Given the description of an element on the screen output the (x, y) to click on. 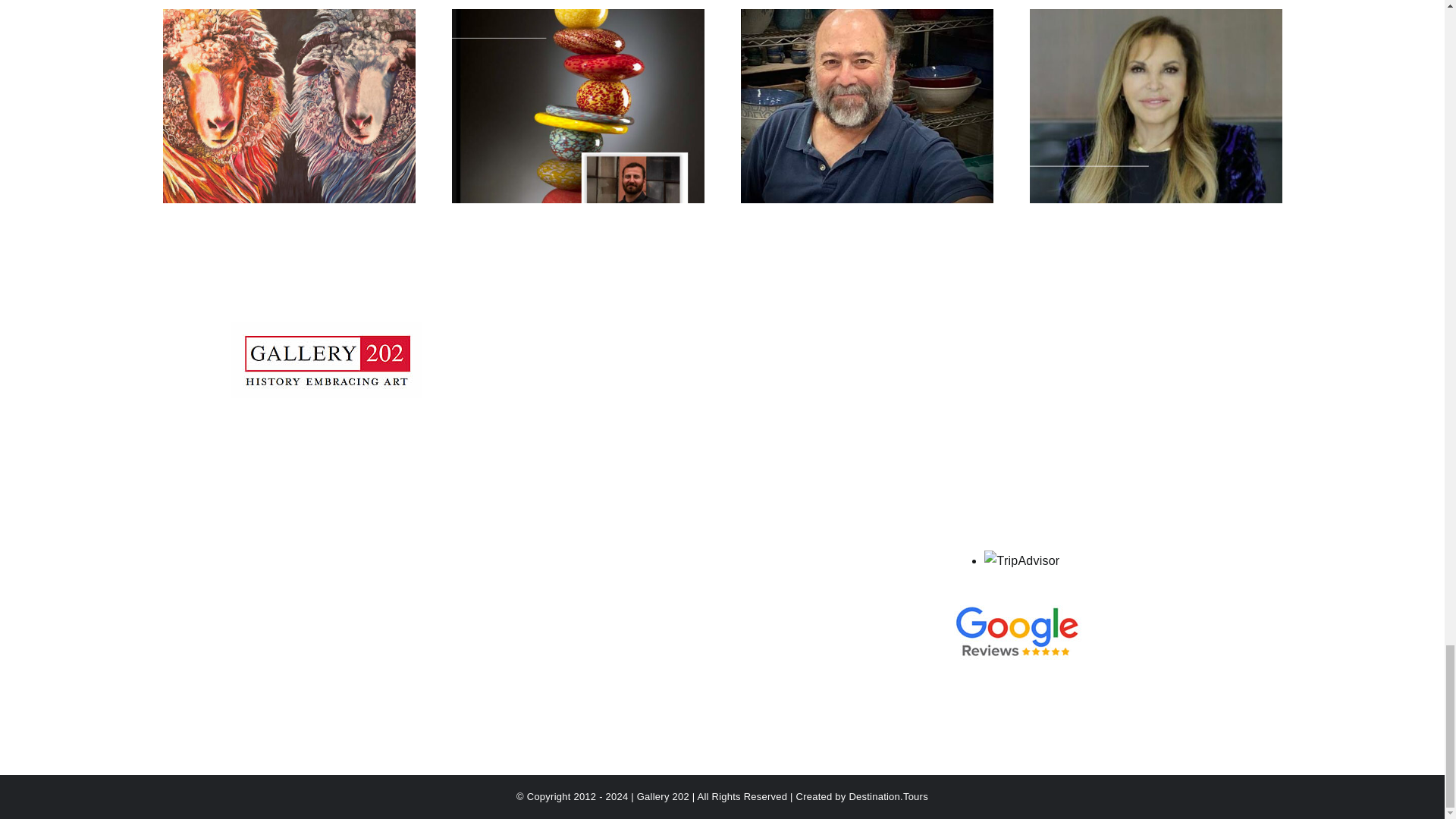
615-472-1134 (349, 479)
